Given the description of an element on the screen output the (x, y) to click on. 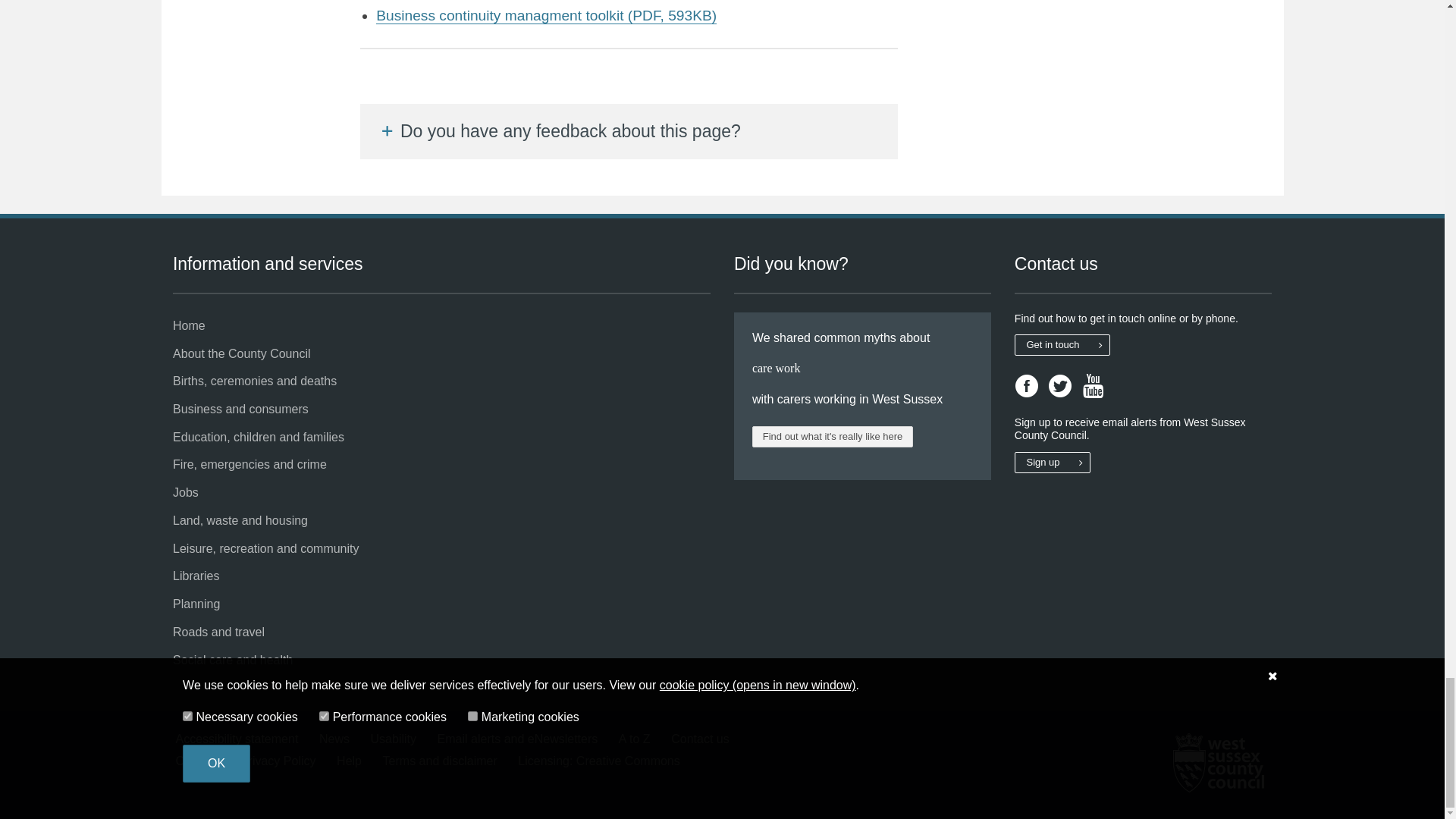
Get in touch (1061, 344)
